Given the description of an element on the screen output the (x, y) to click on. 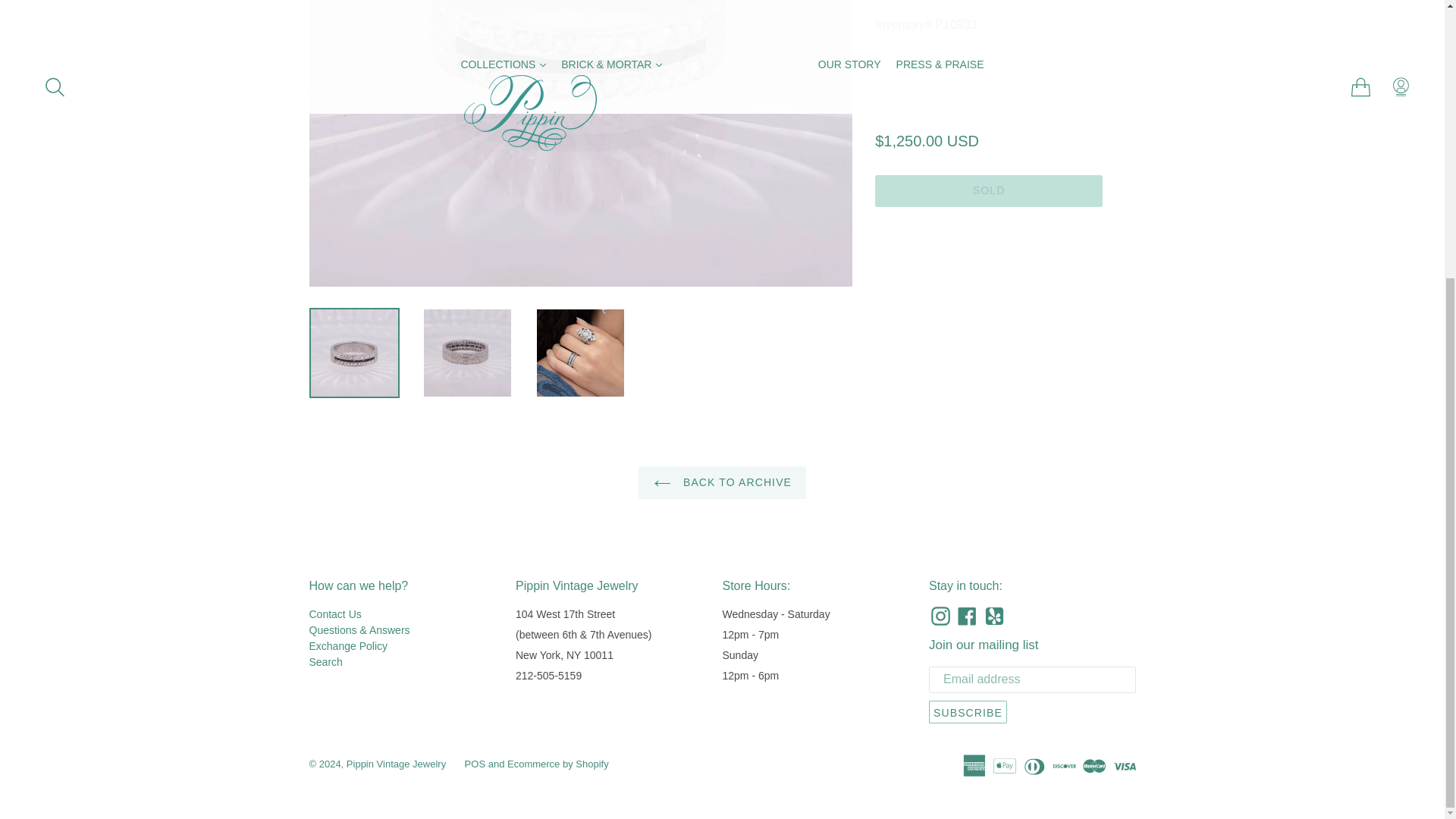
Pippin Vintage Jewelry on Instagram (940, 615)
Pippin Vintage Jewelry on Facebook (966, 615)
Pippin Vintage Jewelry on yelp (994, 615)
